Given the description of an element on the screen output the (x, y) to click on. 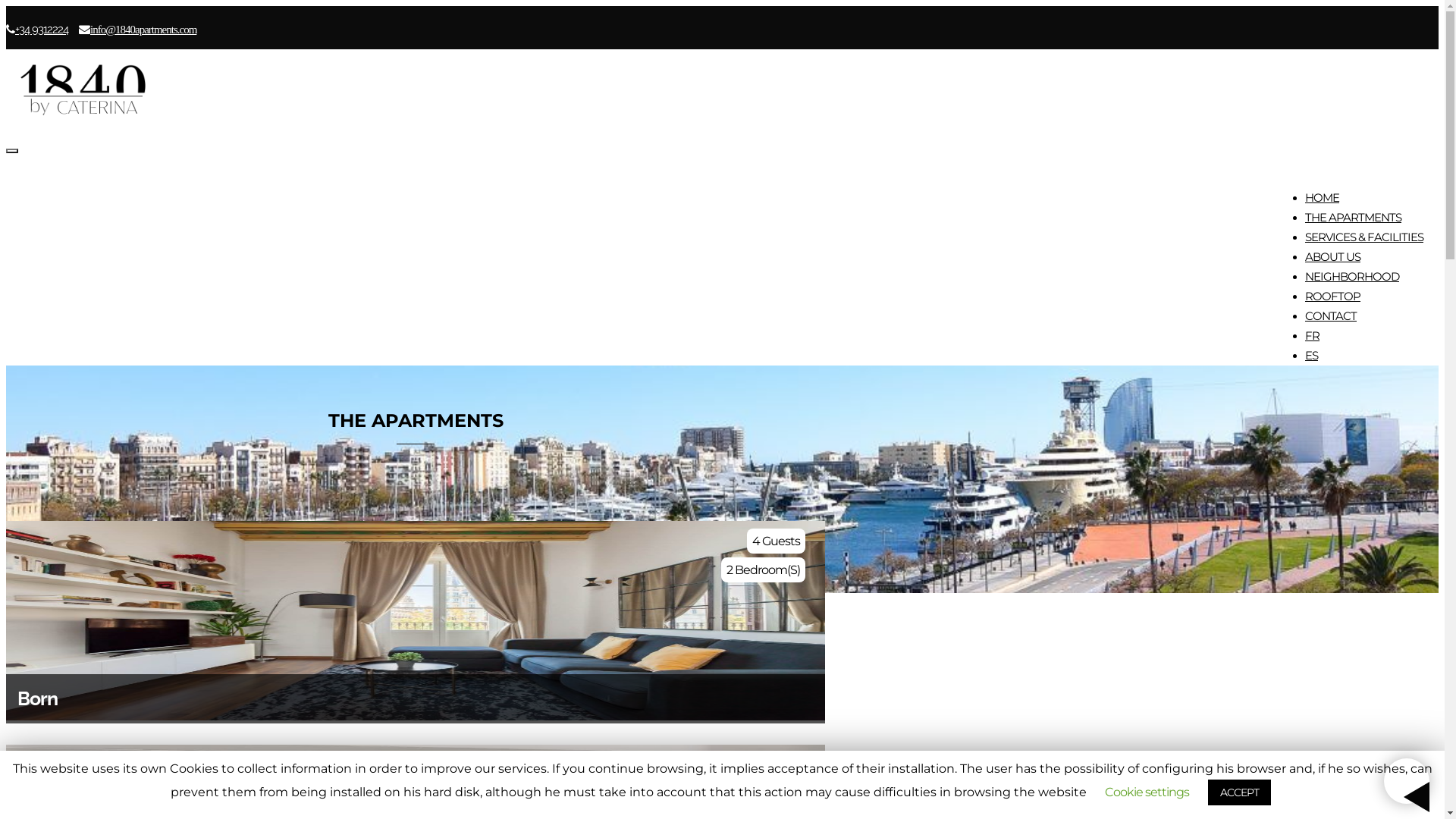
ROOFTOP Element type: text (1332, 295)
HOME Element type: text (1322, 197)
NEIGHBORHOOD Element type: text (1352, 276)
4 Guests
2 Bedroom(S)
Born Element type: text (415, 621)
FR Element type: text (1312, 335)
SERVICES & FACILITIES Element type: text (1364, 236)
THE APARTMENTS Element type: text (1353, 217)
+34 9312224 Element type: text (41, 29)
trengo-widget-launcher Element type: hover (1406, 780)
Cookie settings Element type: text (1146, 791)
trengo-widget-status Element type: hover (1269, 782)
ES Element type: text (1311, 355)
ABOUT US Element type: text (1332, 256)
CONTACT Element type: text (1330, 315)
info@1840apartments.com Element type: text (143, 28)
ACCEPT Element type: text (1238, 792)
